Given the description of an element on the screen output the (x, y) to click on. 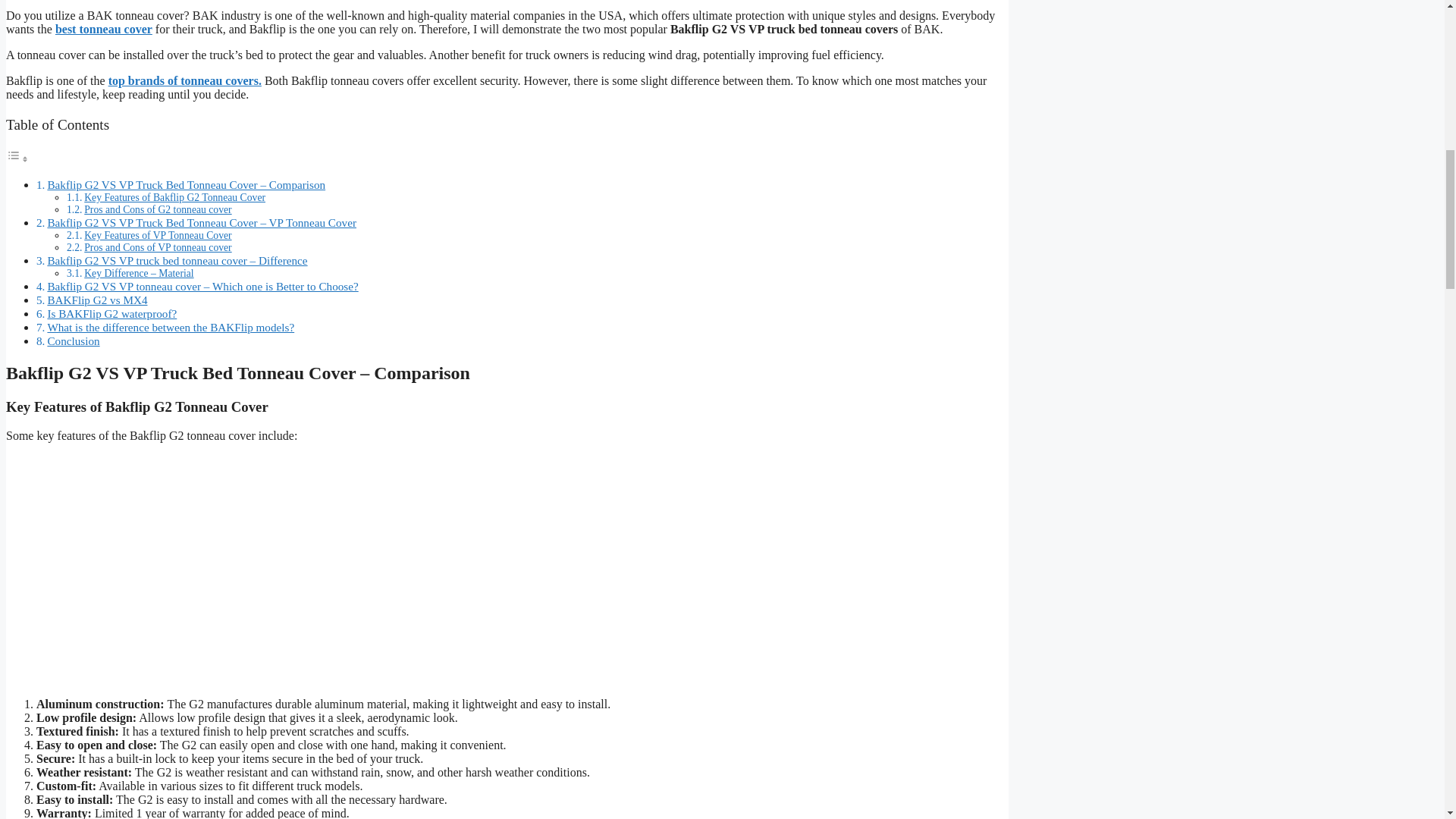
BAKFlip G2 vs MX4 (96, 299)
top brands of tonneau covers. (184, 80)
What is the difference between the BAKFlip models? (170, 327)
Conclusion (72, 340)
Pros and Cons of VP tonneau cover (157, 247)
best tonneau cover (103, 29)
Conclusion (72, 340)
BAKFlip G2 vs MX4 (96, 299)
Is BAKFlip G2 waterproof? (111, 313)
What is the difference between the BAKFlip models? (170, 327)
Key Features of Bakflip G2 Tonneau Cover (174, 197)
Pros and Cons of VP tonneau cover (157, 247)
Key Features of Bakflip G2 Tonneau Cover (174, 197)
Is BAKFlip G2 waterproof? (111, 313)
Pros and Cons of G2 tonneau cover (157, 209)
